Given the description of an element on the screen output the (x, y) to click on. 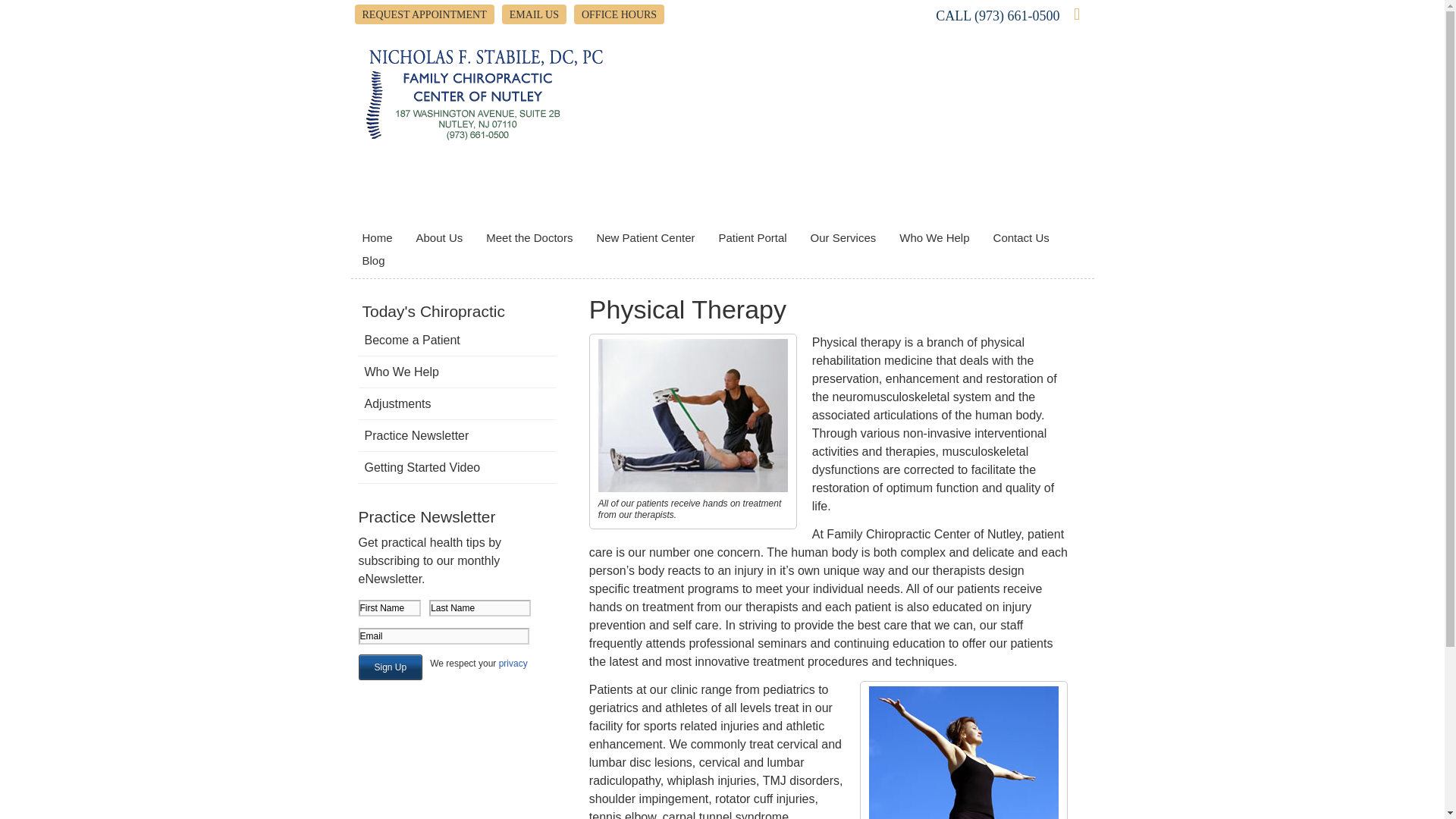
OFFICE HOURS (618, 14)
Family Chiropractic Center of Nutley (483, 137)
Meet the Doctors (529, 237)
Welcome to Family Chiropractic Center of Nutley (483, 137)
Patient Portal (753, 237)
First Name (389, 607)
New Patient Center (645, 237)
Home (377, 237)
Last Name (480, 607)
Our Services (843, 237)
